Given the description of an element on the screen output the (x, y) to click on. 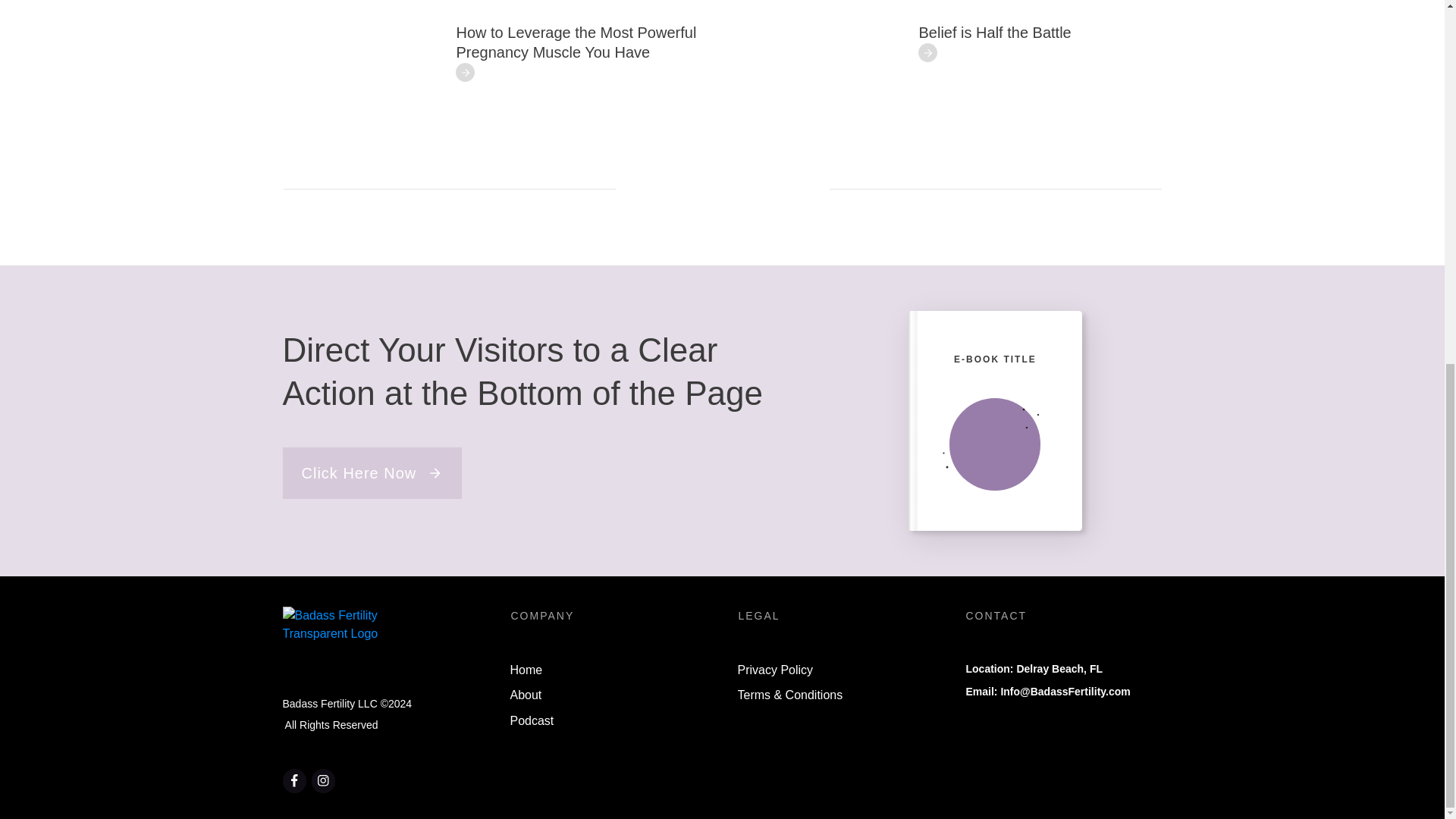
About (525, 695)
How to Leverage the Most Powerful Pregnancy Muscle You Have (577, 42)
Belief is Half the Battle (994, 32)
Podcast (531, 721)
Click Here Now (371, 472)
Privacy Policy (774, 670)
Home (525, 670)
How to Leverage the Most Powerful Pregnancy Muscle You Have (577, 42)
Belief is Half the Battle (994, 32)
